Given the description of an element on the screen output the (x, y) to click on. 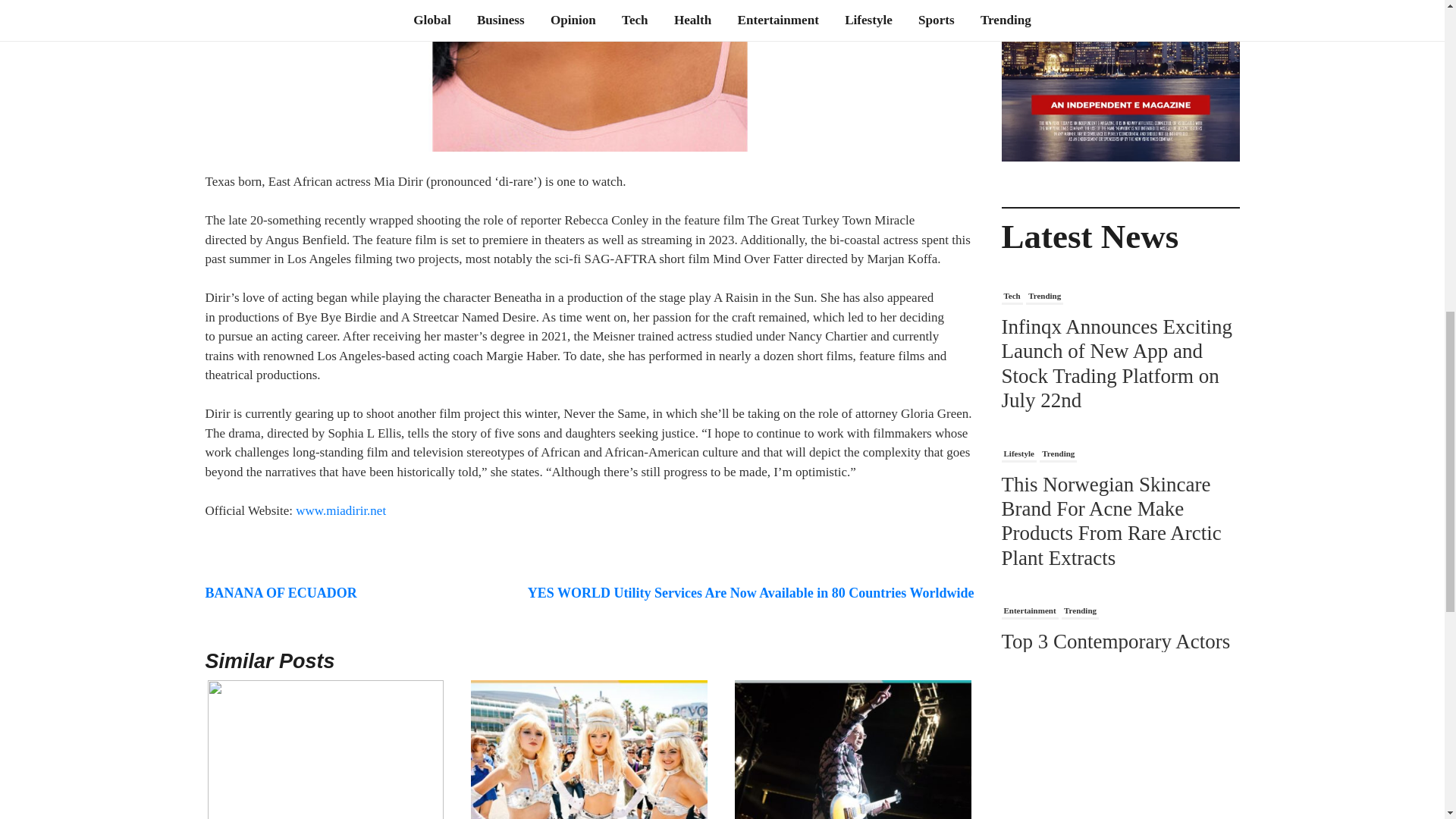
BANANA OF ECUADOR (280, 592)
www.miadirir.net (340, 510)
Trending (1044, 296)
Tech (1011, 296)
